Given the description of an element on the screen output the (x, y) to click on. 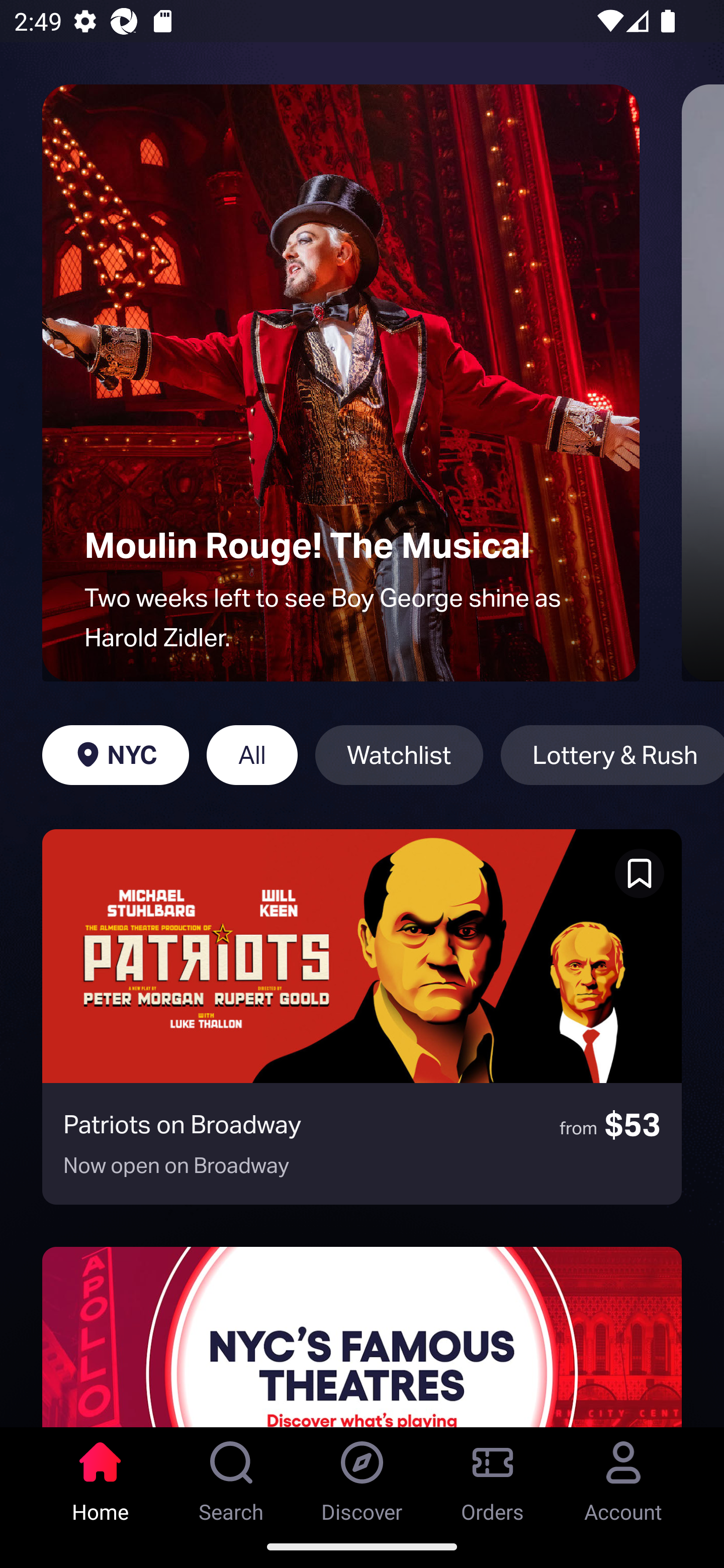
NYC (114, 754)
All (251, 754)
Watchlist (398, 754)
Lottery & Rush (612, 754)
Patriots on Broadway from $53 Now open on Broadway (361, 1016)
Search (230, 1475)
Discover (361, 1475)
Orders (492, 1475)
Account (623, 1475)
